Given the description of an element on the screen output the (x, y) to click on. 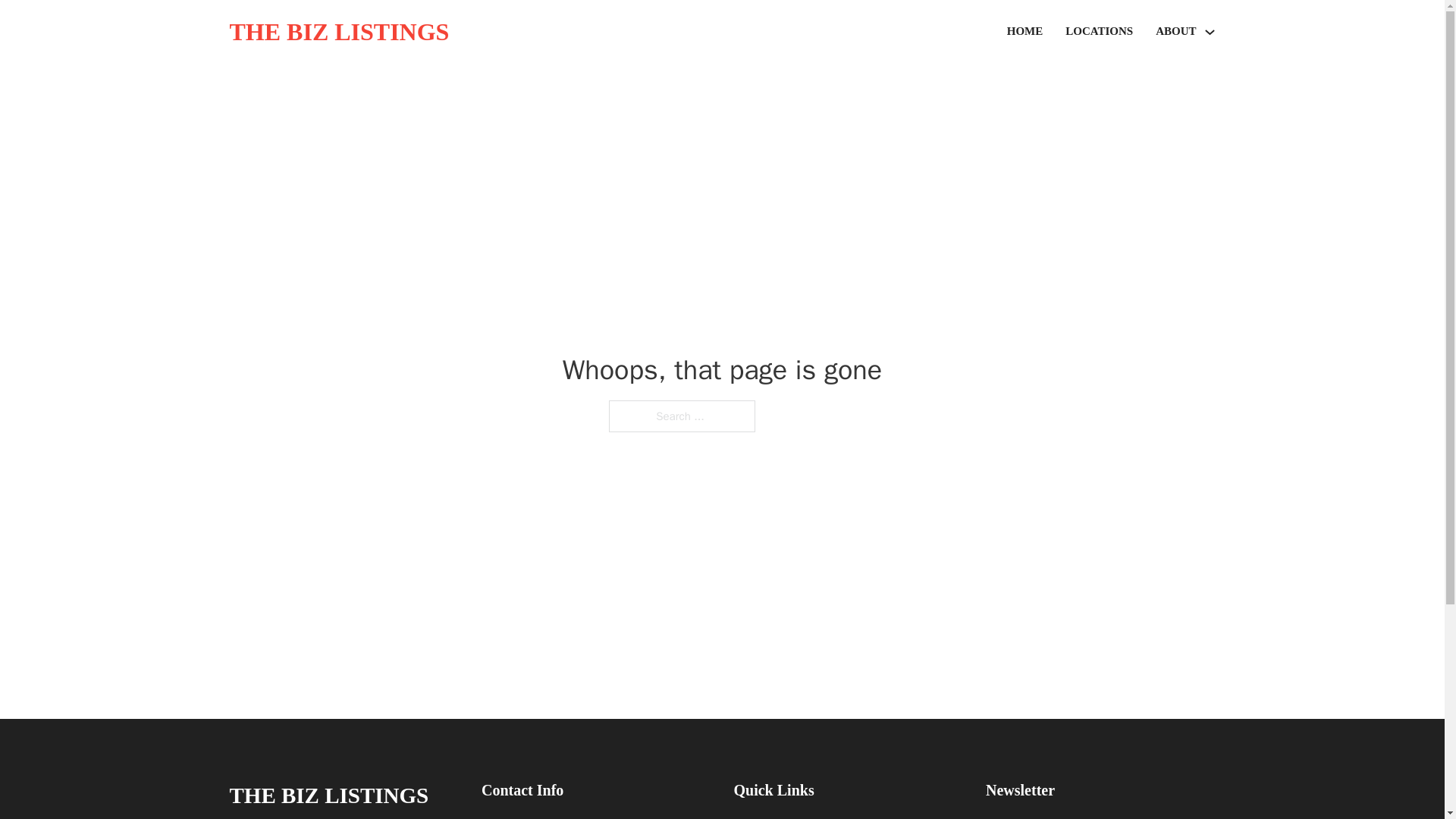
LOCATIONS (1098, 31)
HOME (1025, 31)
THE BIZ LISTINGS (328, 795)
ABOUT (1175, 31)
THE BIZ LISTINGS (338, 31)
